Given the description of an element on the screen output the (x, y) to click on. 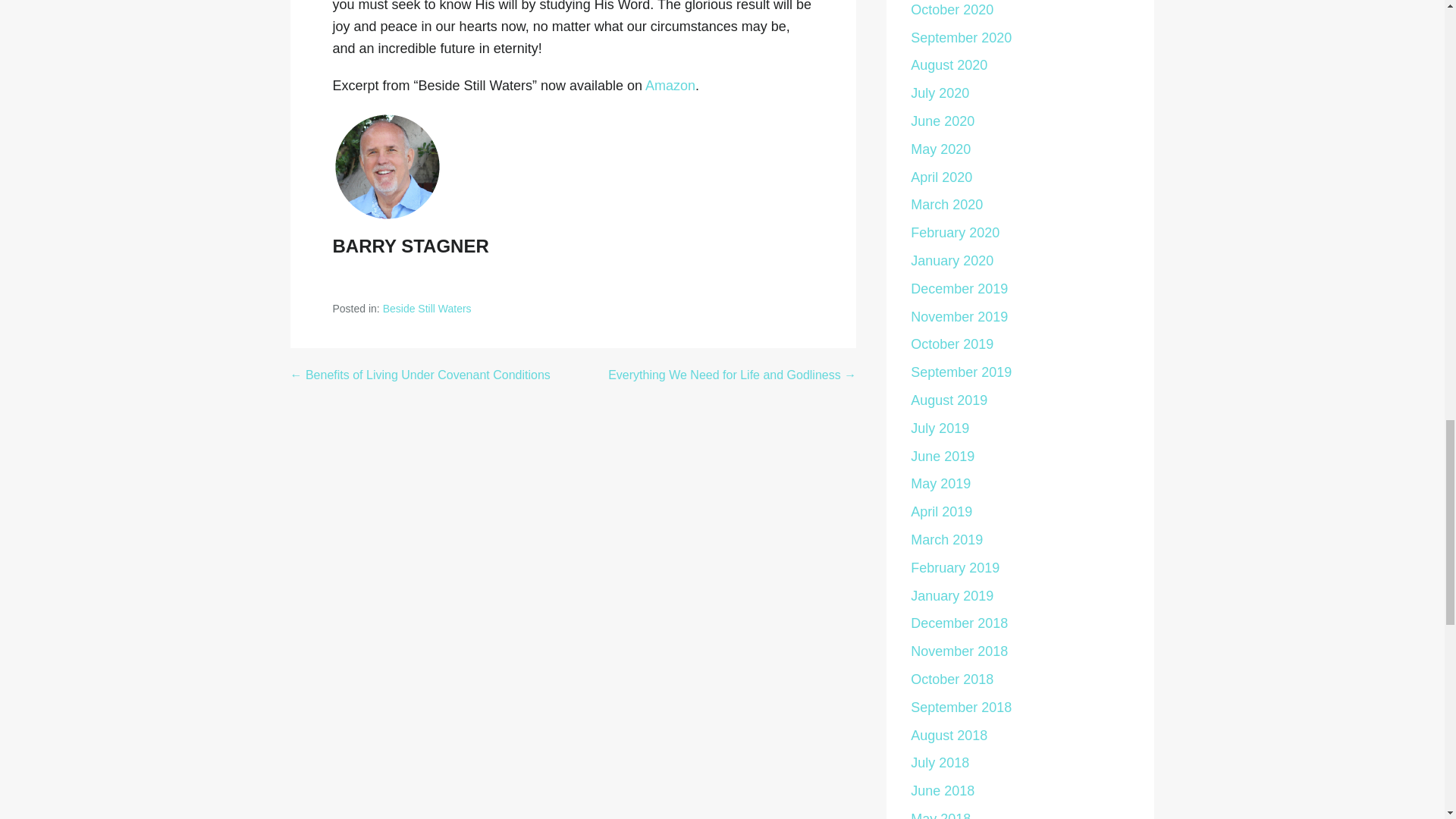
Amazon (670, 85)
Beside Still Waters (426, 308)
